Given the description of an element on the screen output the (x, y) to click on. 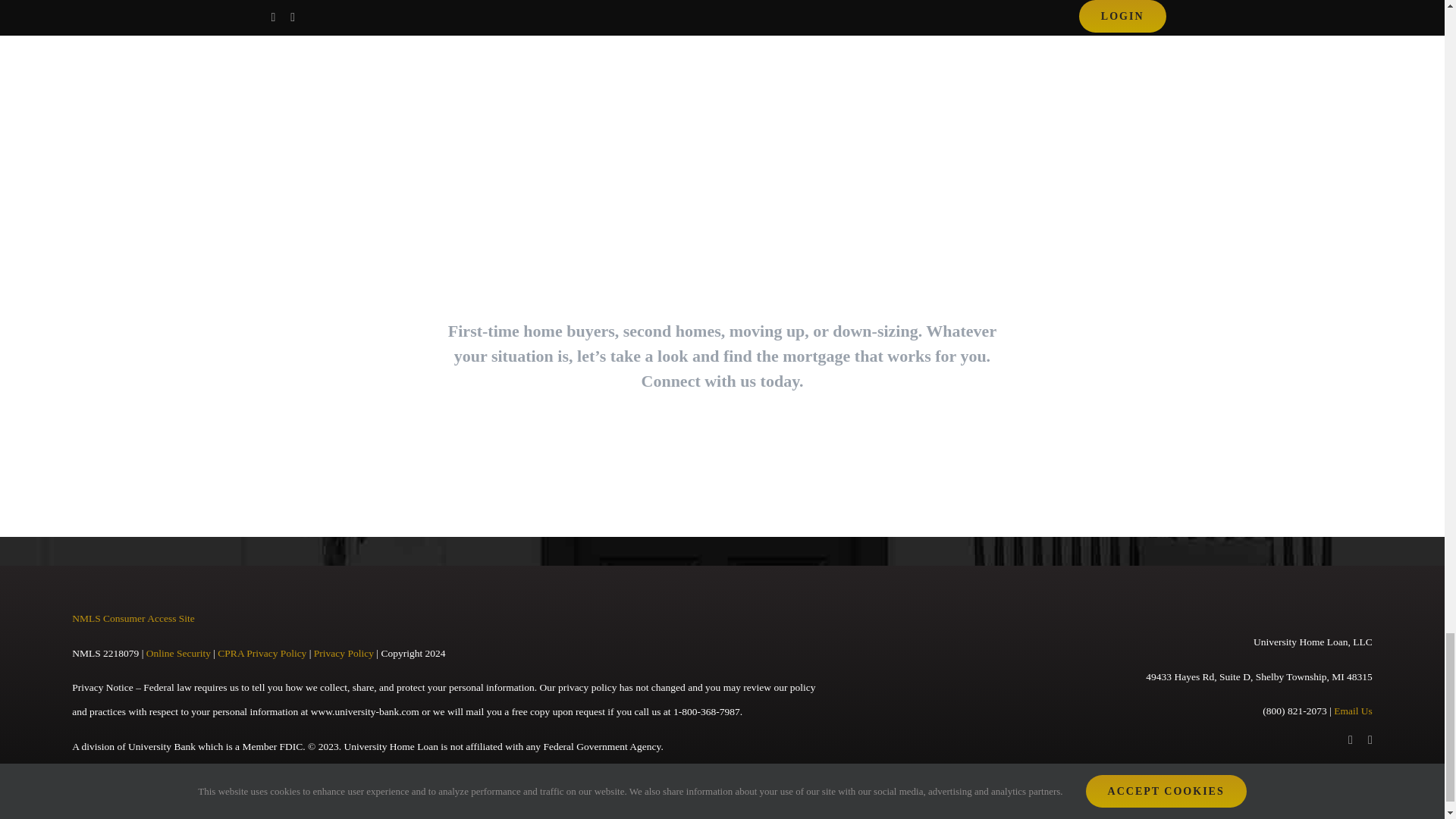
CPRA Privacy Policy (260, 653)
Online Security (179, 653)
Email Us (1353, 710)
Privacy Policy (344, 653)
NMLS Consumer Access Site (133, 618)
